Given the description of an element on the screen output the (x, y) to click on. 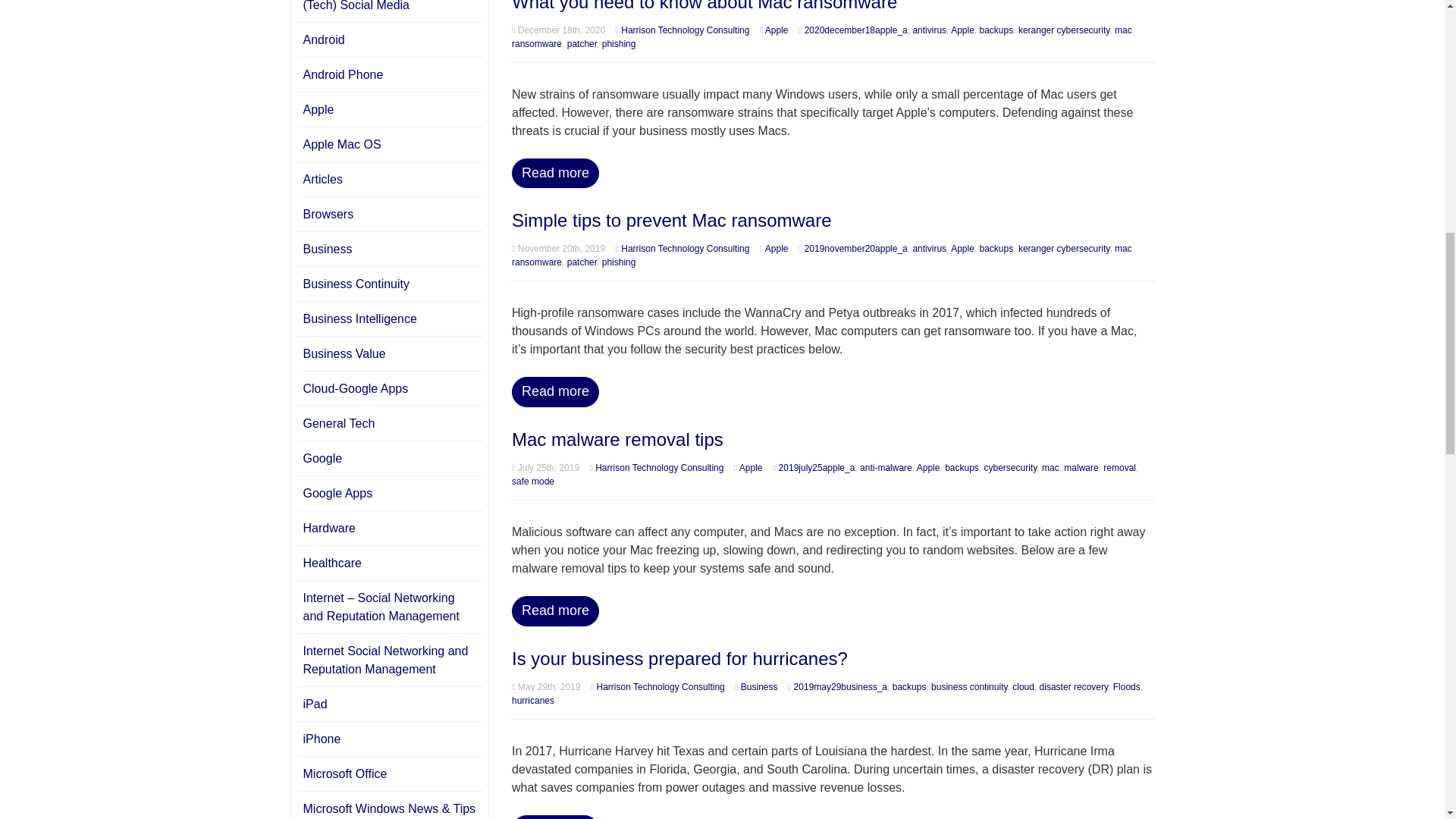
Simple tips to prevent Mac ransomware (671, 219)
Is your business prepared for hurricanes? (679, 658)
Posts by Harrison Technology Consulting (660, 686)
Mac malware removal tips (617, 439)
What you need to know about Mac ransomware (704, 6)
Posts by Harrison Technology Consulting (685, 248)
Posts by Harrison Technology Consulting (685, 30)
Posts by Harrison Technology Consulting (659, 467)
